Given the description of an element on the screen output the (x, y) to click on. 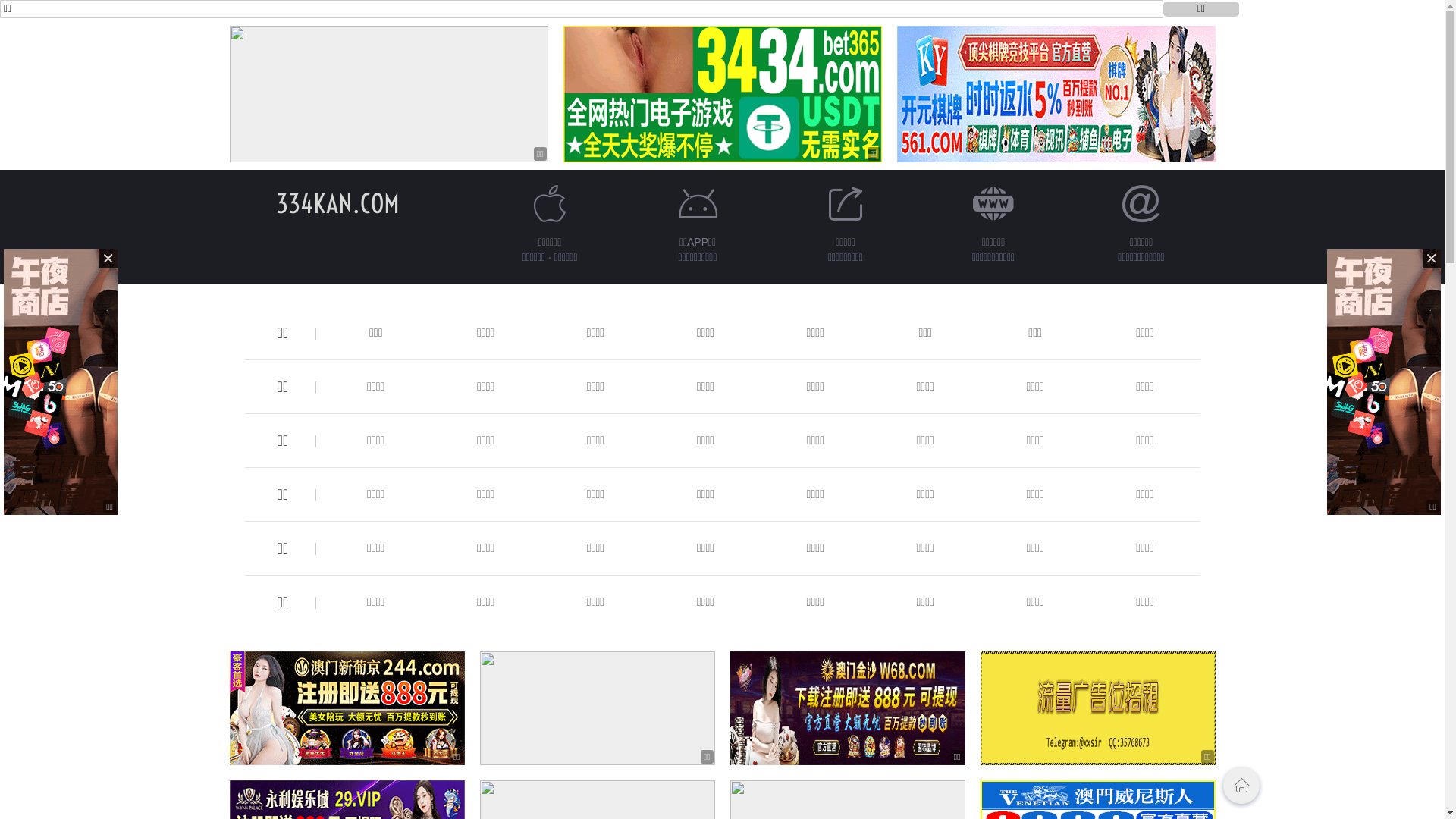
334KAN.COM Element type: text (337, 203)
